Given the description of an element on the screen output the (x, y) to click on. 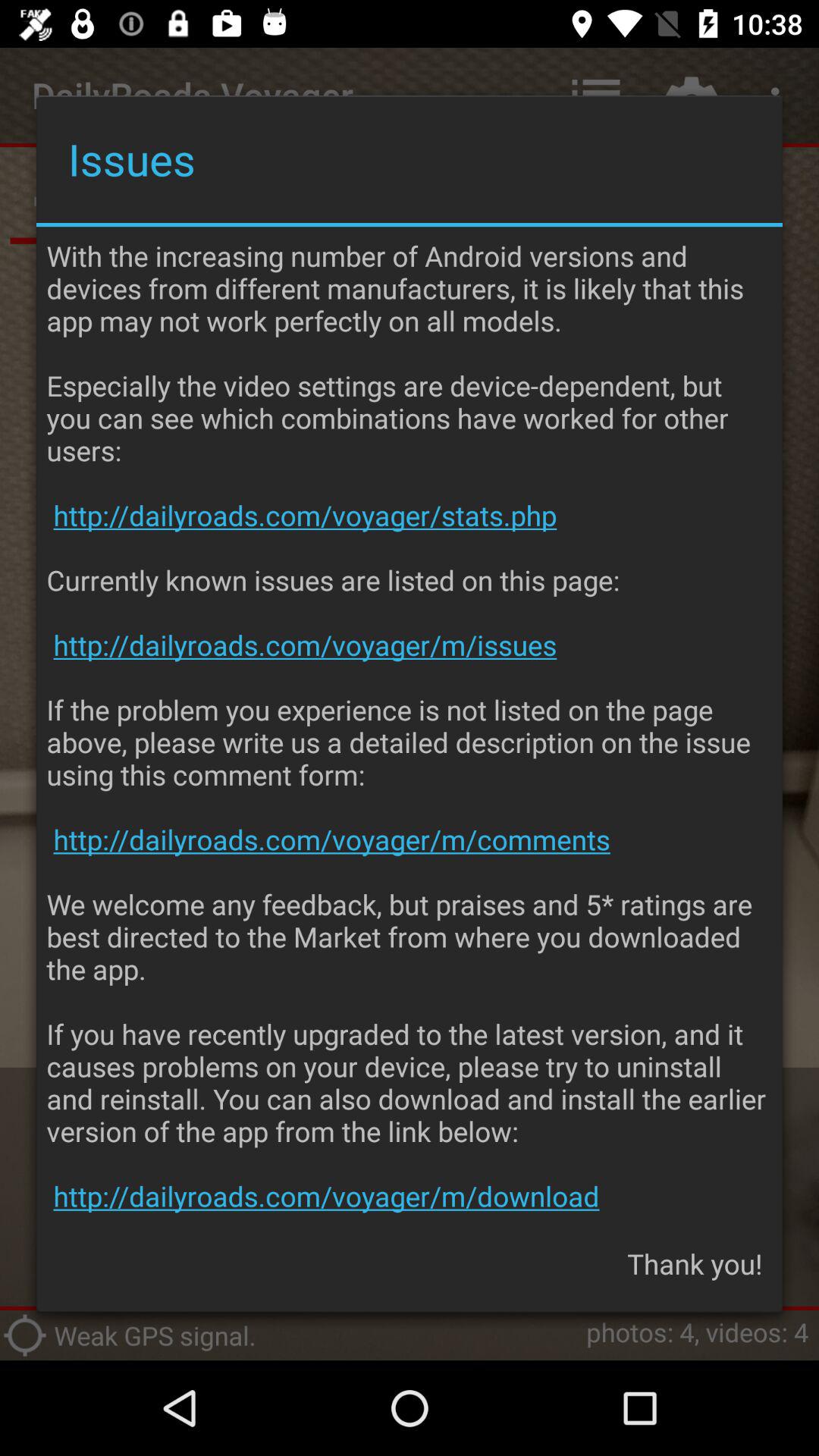
swipe to the with the increasing app (409, 725)
